Given the description of an element on the screen output the (x, y) to click on. 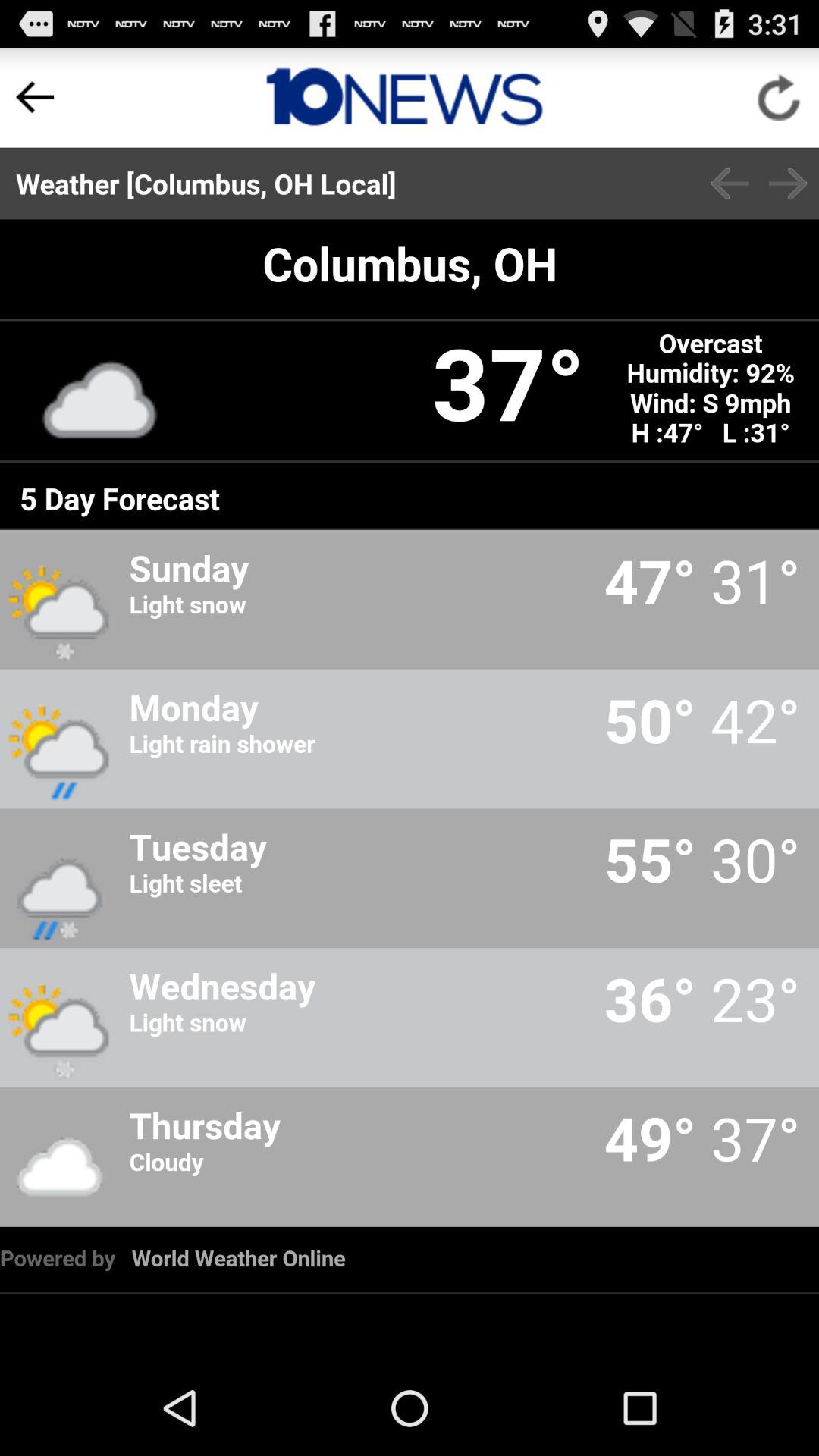
toggle to advertisement box (404, 97)
